Given the description of an element on the screen output the (x, y) to click on. 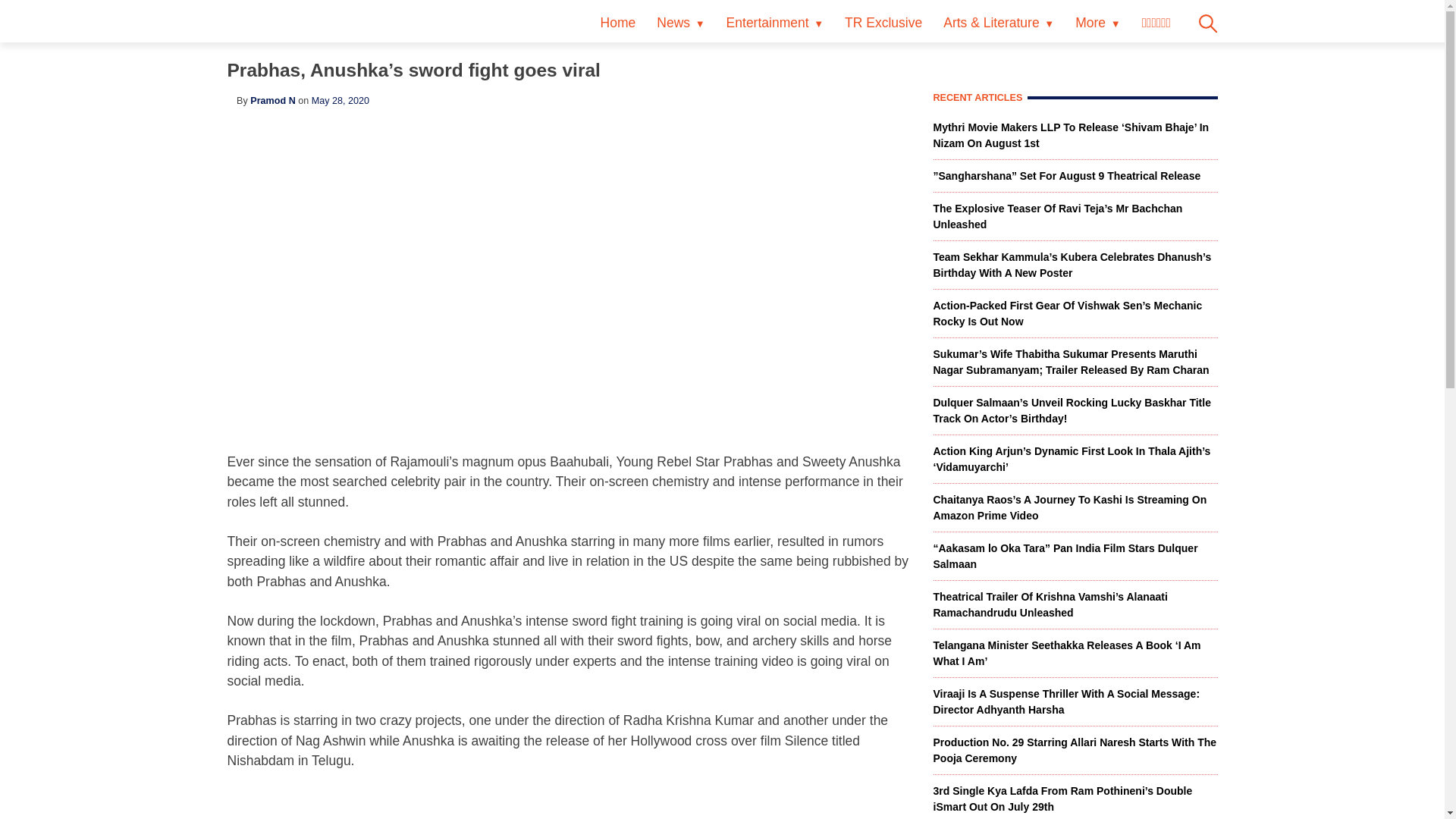
May 28, 2020 (340, 100)
Pramod N (272, 100)
Entertainment (775, 23)
News (680, 23)
Home (617, 23)
Telugu Rajyam - Latest Telugu News and Politics (283, 28)
More (1097, 23)
TR Exclusive (883, 23)
